Given the description of an element on the screen output the (x, y) to click on. 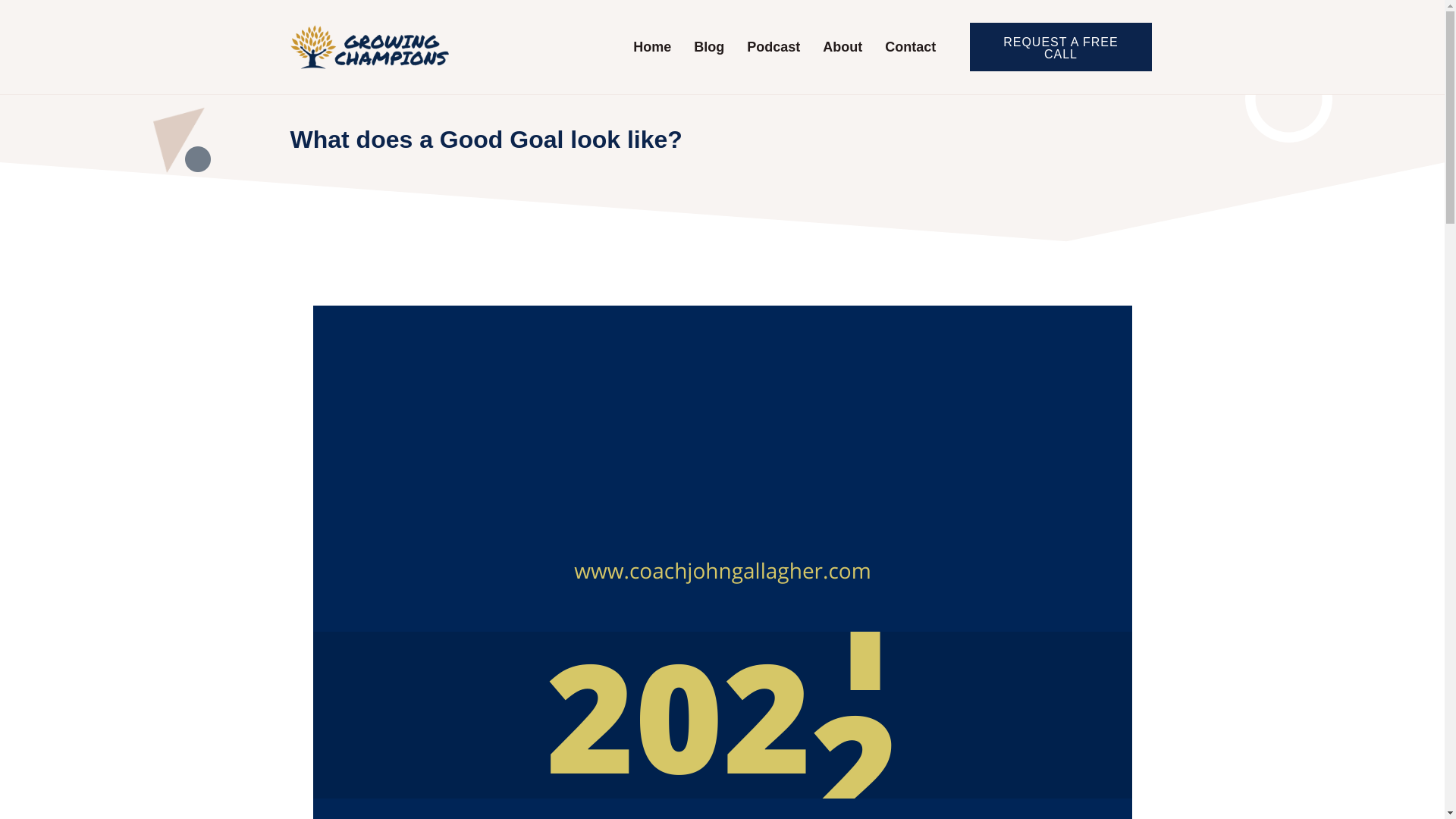
REQUEST A FREE CALL (1060, 46)
Blog (708, 46)
Contact (910, 46)
Home (651, 46)
About (841, 46)
Podcast (772, 46)
